Given the description of an element on the screen output the (x, y) to click on. 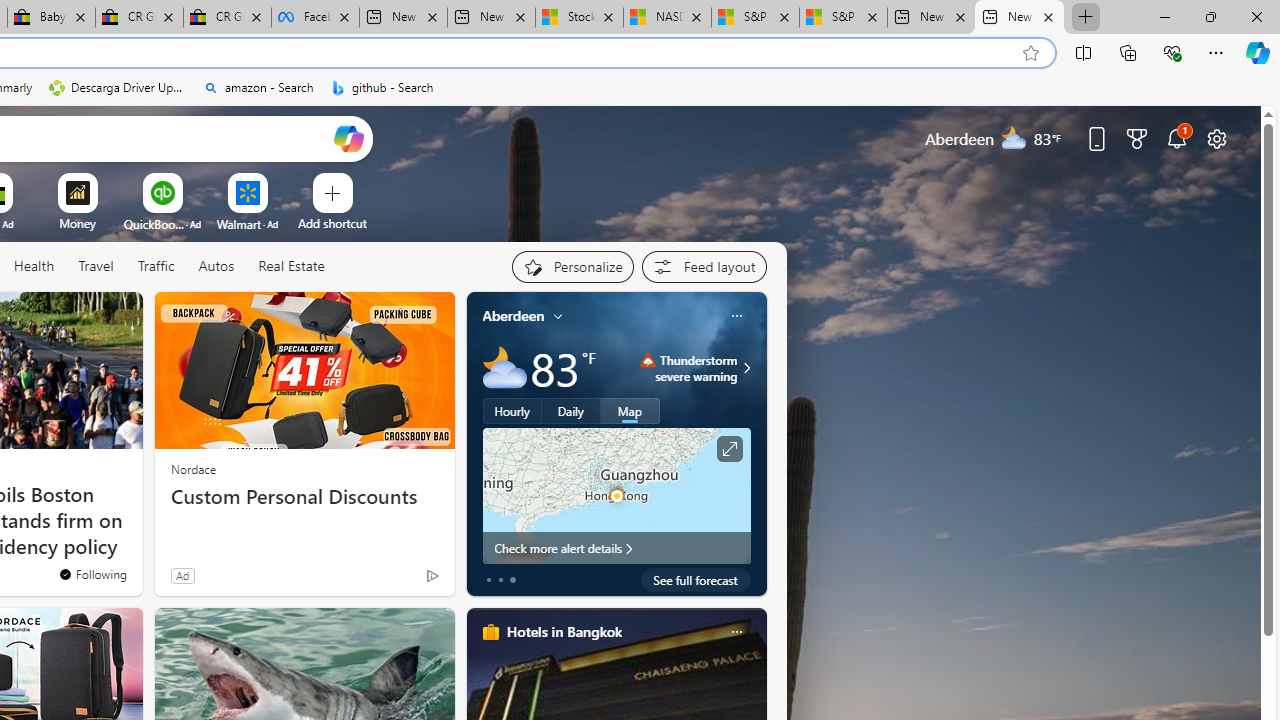
tab-2 (511, 579)
amazon - Search (258, 88)
Class: icon-img (736, 632)
Facebook (315, 17)
Personalize your feed" (571, 266)
Daily (571, 411)
Aberdeen (513, 315)
Descarga Driver Updater (118, 88)
S&P 500, Nasdaq end lower, weighed by Nvidia dip | Watch (843, 17)
